Given the description of an element on the screen output the (x, y) to click on. 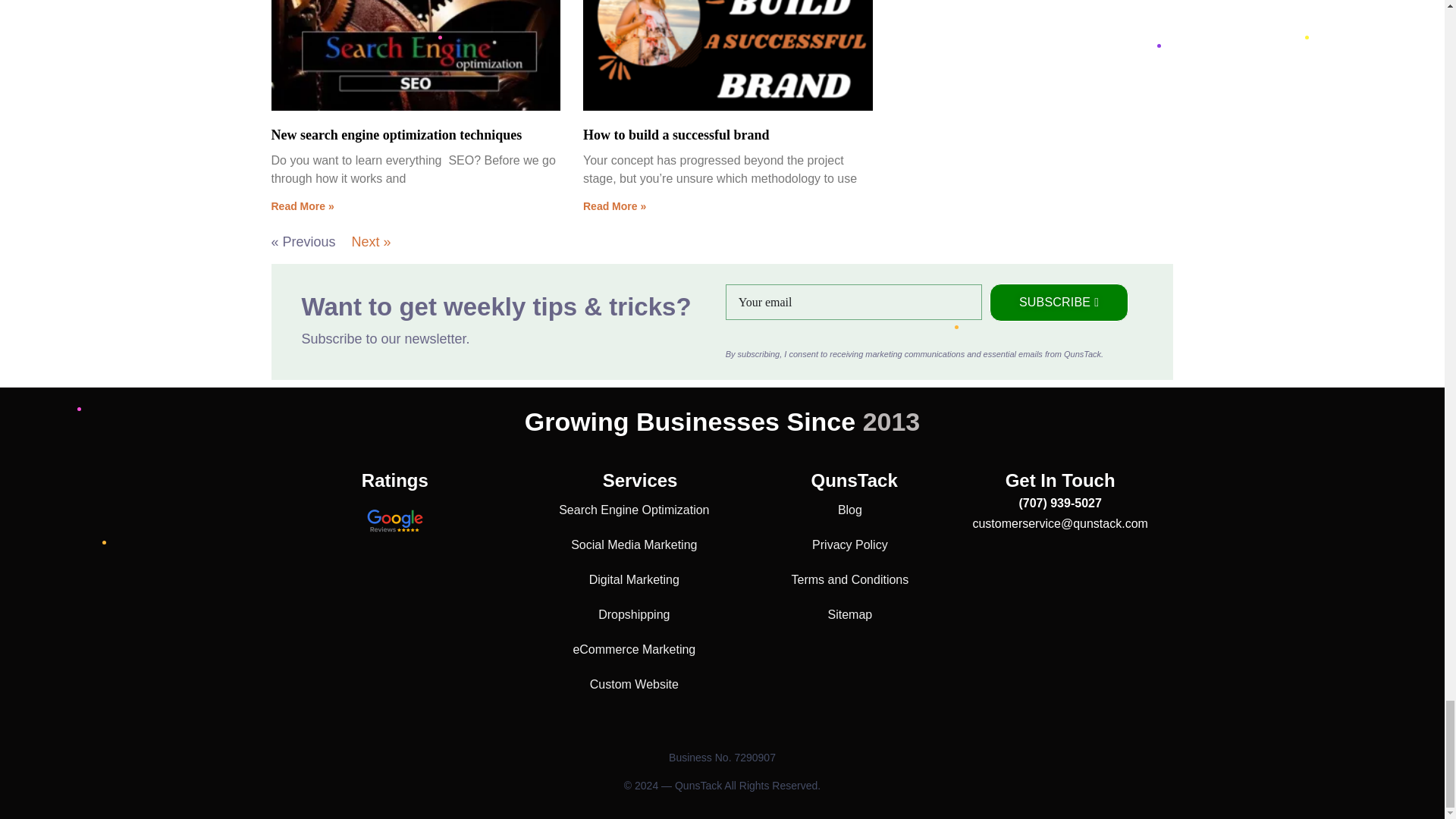
google-rating.pngw3 (394, 521)
New search engine optimization techniques (396, 134)
SUBSCRIBE (1059, 302)
How to build a successful brand (676, 134)
How-to-build-a-Successful-brand-2 (725, 65)
